Given the description of an element on the screen output the (x, y) to click on. 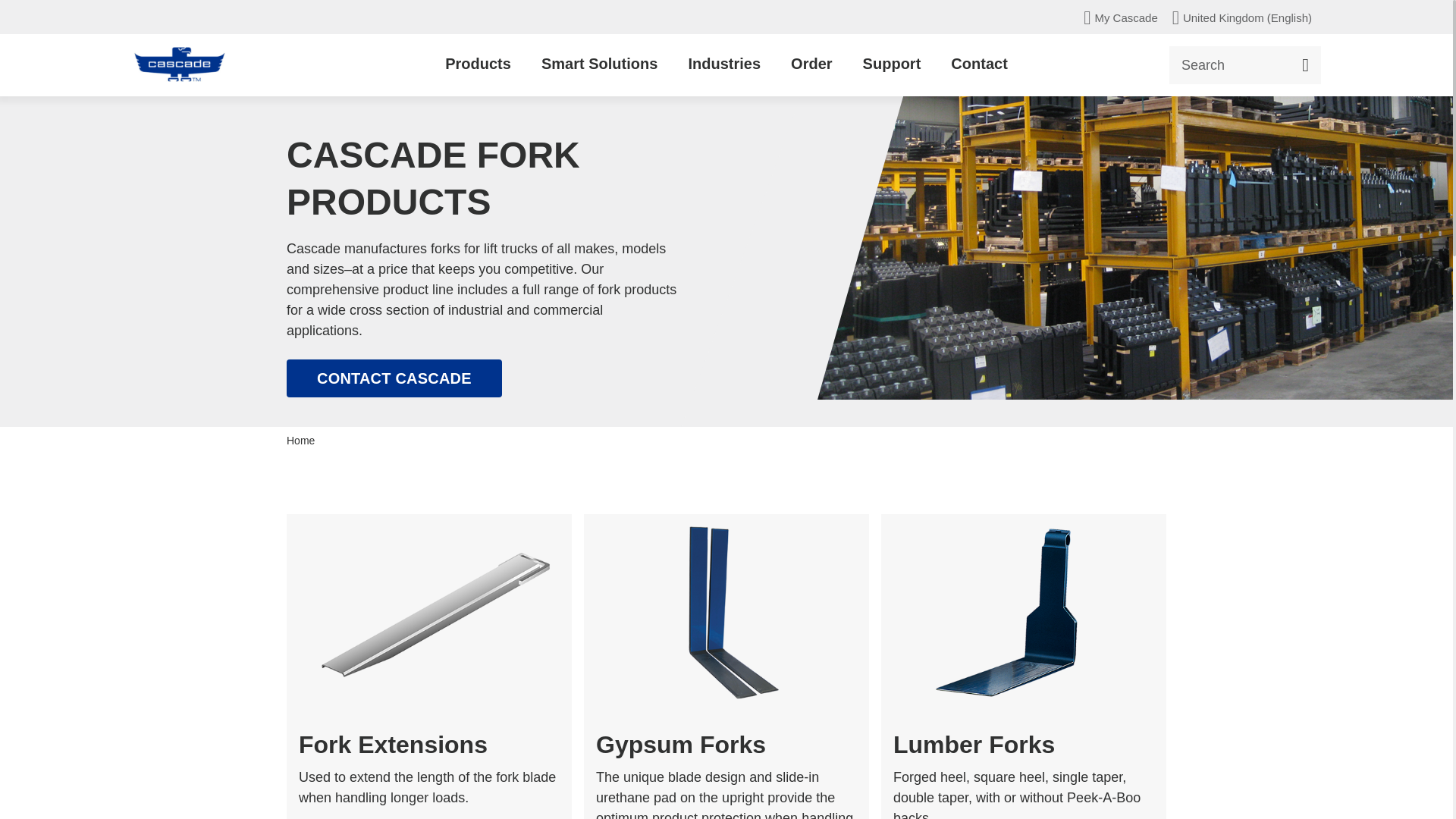
Cascade Logo (179, 64)
Sign in (1125, 16)
My Cascade (1125, 16)
